Given the description of an element on the screen output the (x, y) to click on. 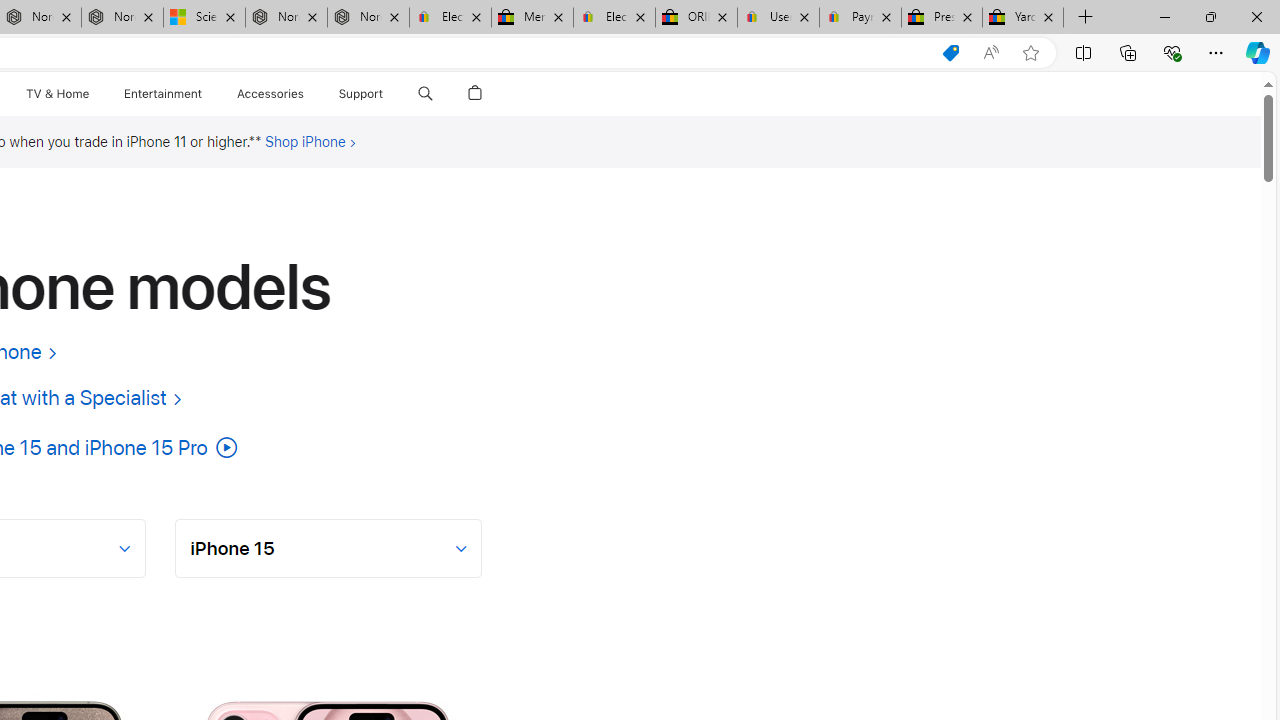
TV and Home menu (92, 93)
TV and Home (56, 93)
AutomationID: selector-2 (329, 547)
Shopping Bag (475, 93)
Search apple.com (425, 93)
Support (361, 93)
Nordace - FAQ (368, 17)
Accessories (269, 93)
Footnote ** symbol (255, 141)
